Given the description of an element on the screen output the (x, y) to click on. 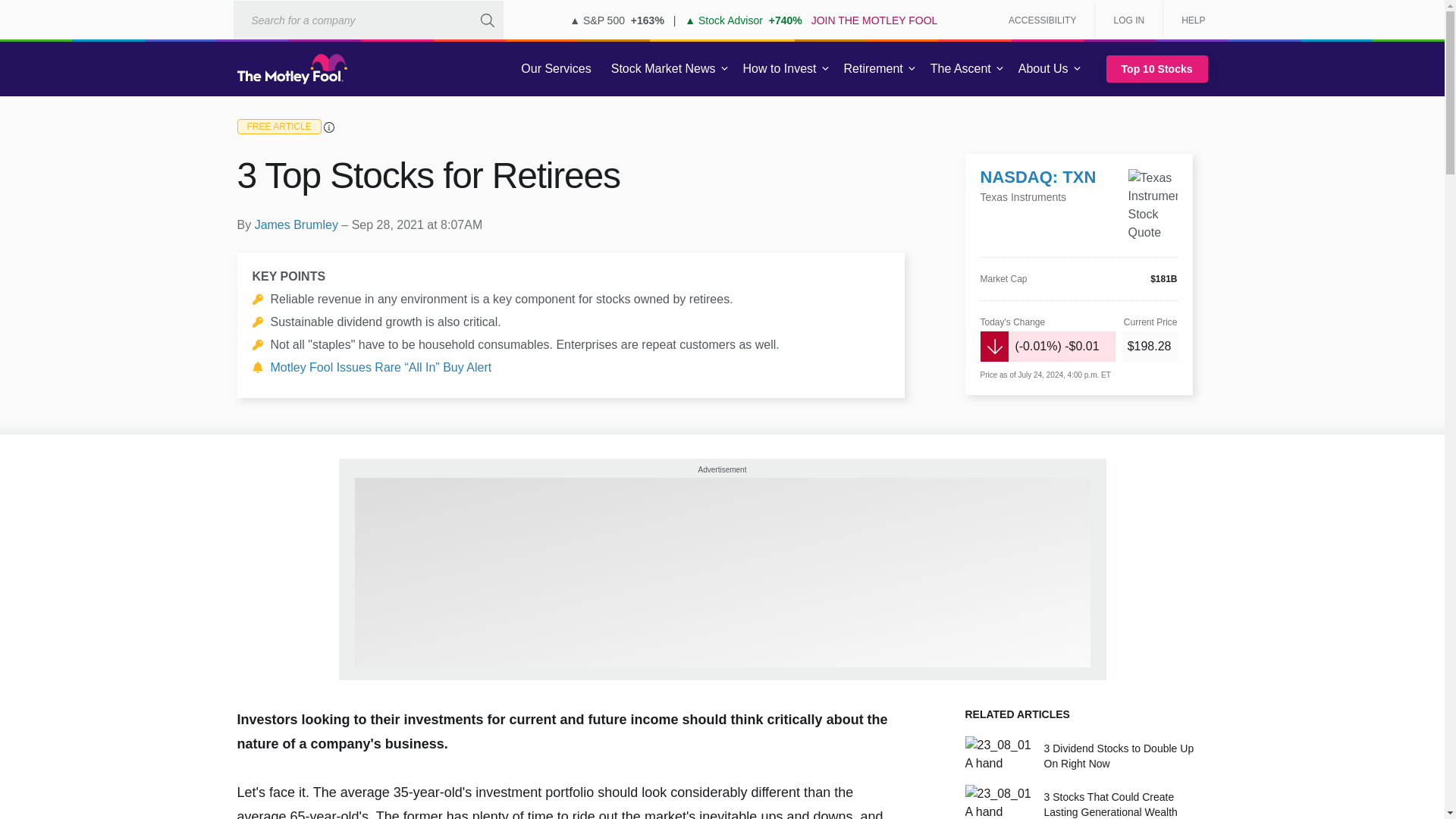
HELP (1187, 19)
How to Invest (779, 68)
ACCESSIBILITY (1042, 19)
LOG IN (1128, 19)
Our Services (555, 68)
Stock Market News (662, 68)
